Given the description of an element on the screen output the (x, y) to click on. 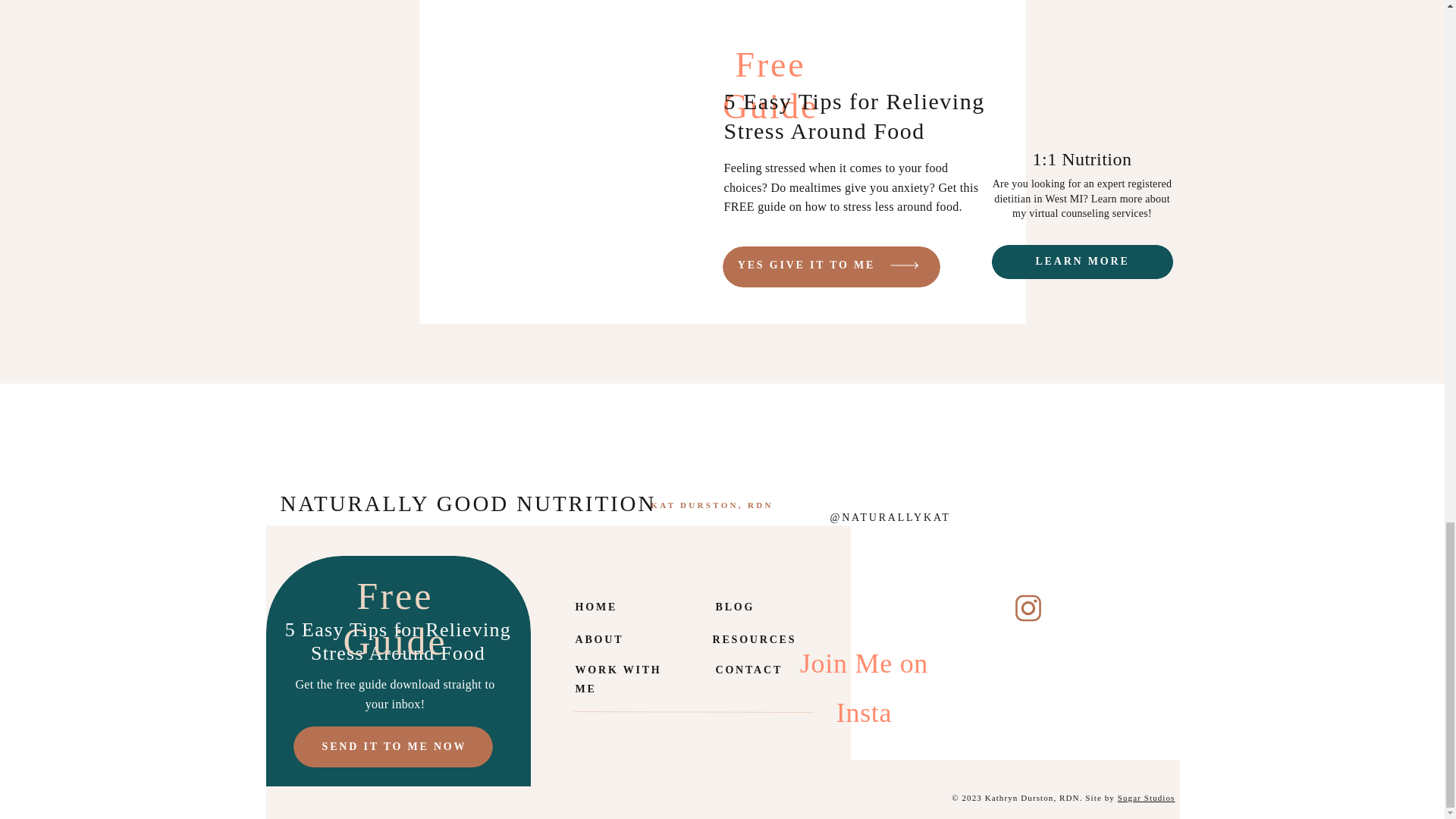
yes (313, 187)
2020 journal Antioxidants (546, 798)
Post Comment (349, 256)
Post Comment (349, 256)
increased levels of carotenoid contents (457, 160)
LEARN MORE (1082, 262)
2012 Food Chemistry journal  (475, 293)
research (344, 665)
2021 Nutrients journal on skin health (501, 215)
